Given the description of an element on the screen output the (x, y) to click on. 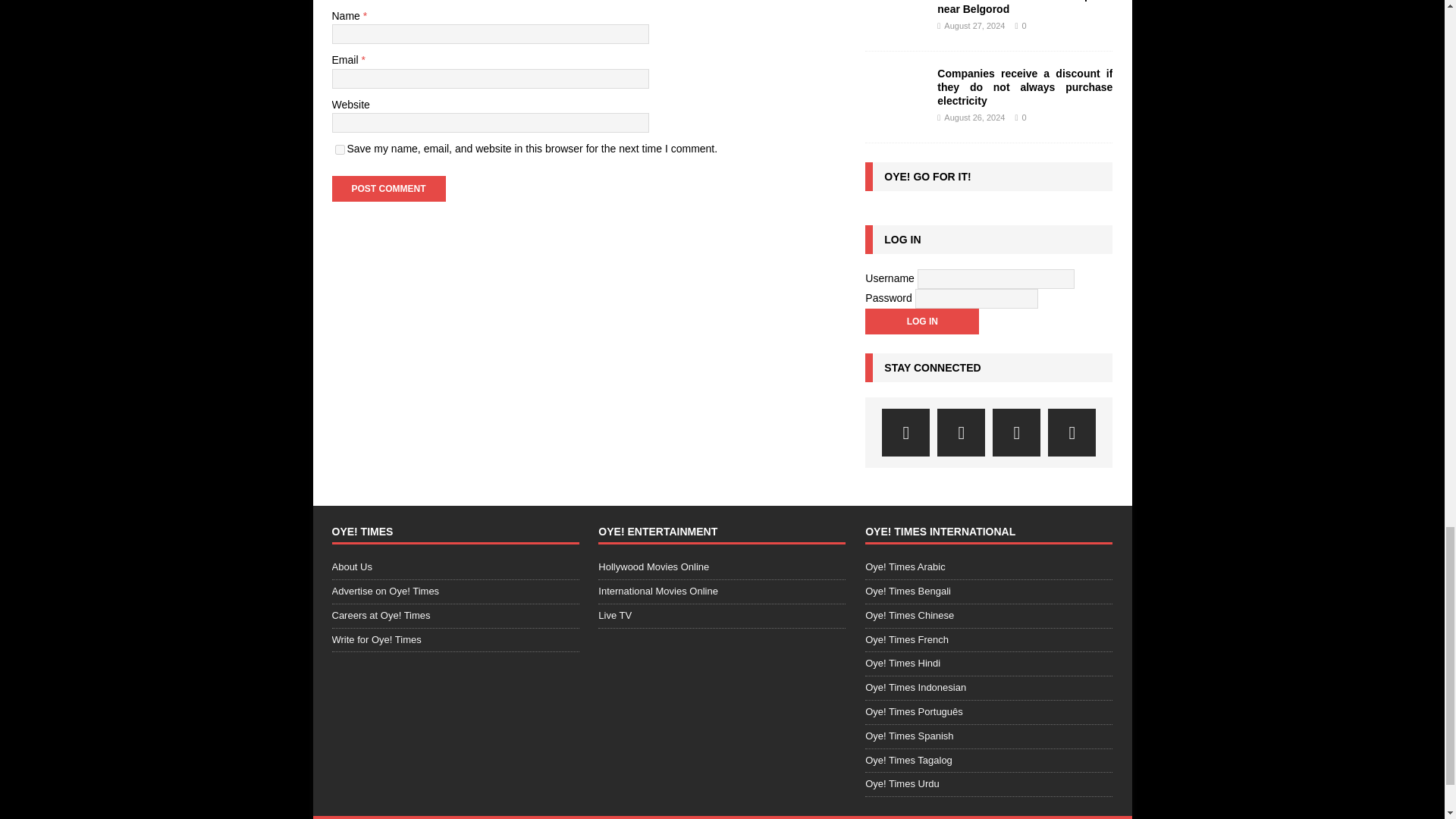
Post Comment (388, 188)
Log In (921, 321)
yes (339, 149)
